Given the description of an element on the screen output the (x, y) to click on. 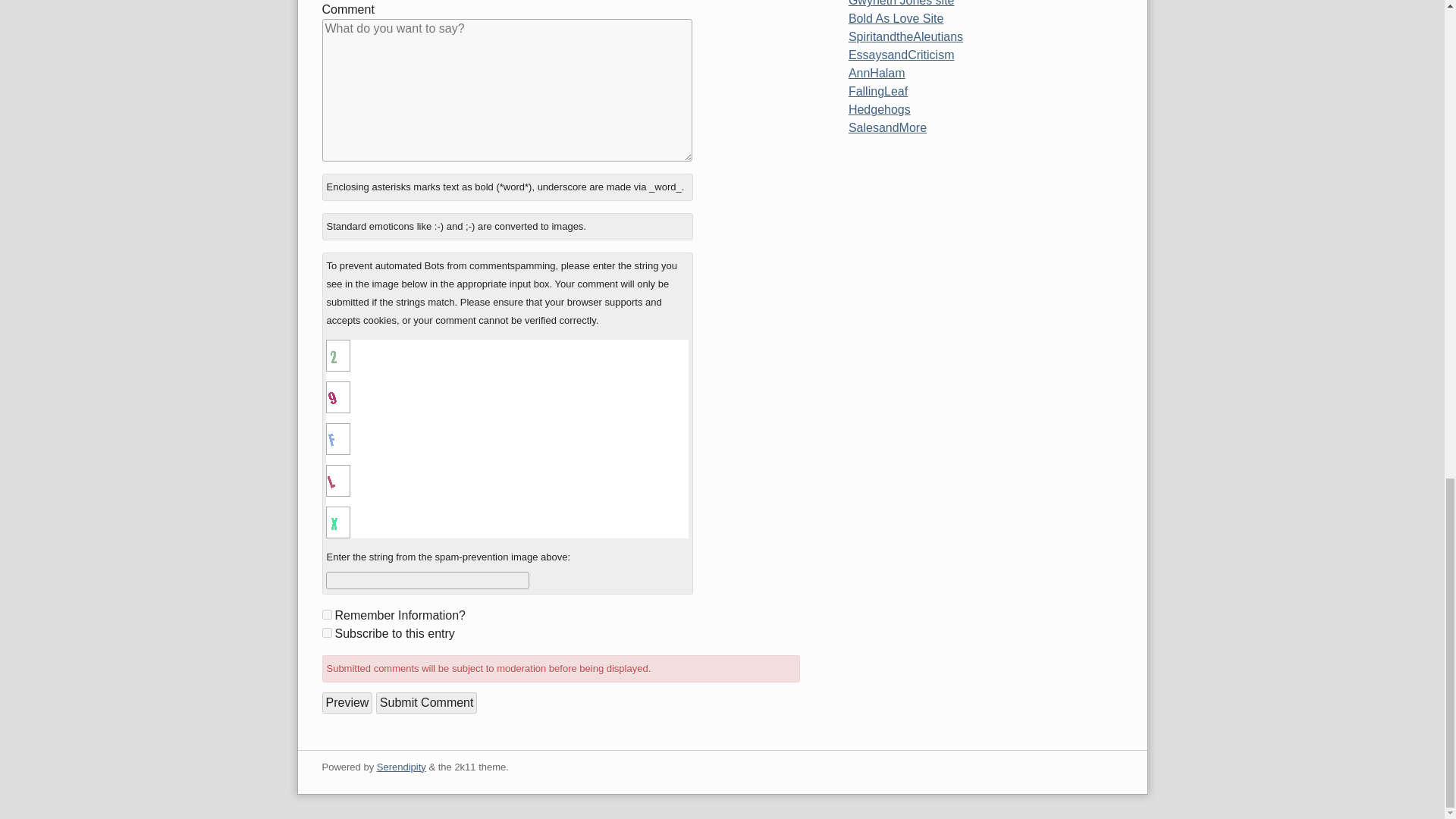
on (326, 614)
Gwyneth Jones site (901, 3)
EssaysandCriticism (901, 54)
Preview (346, 702)
Preview (346, 702)
on (326, 633)
SpiritandtheAleutians (905, 36)
Submit Comment (426, 702)
Bold As Love Site (895, 18)
Submit Comment (426, 702)
